Given the description of an element on the screen output the (x, y) to click on. 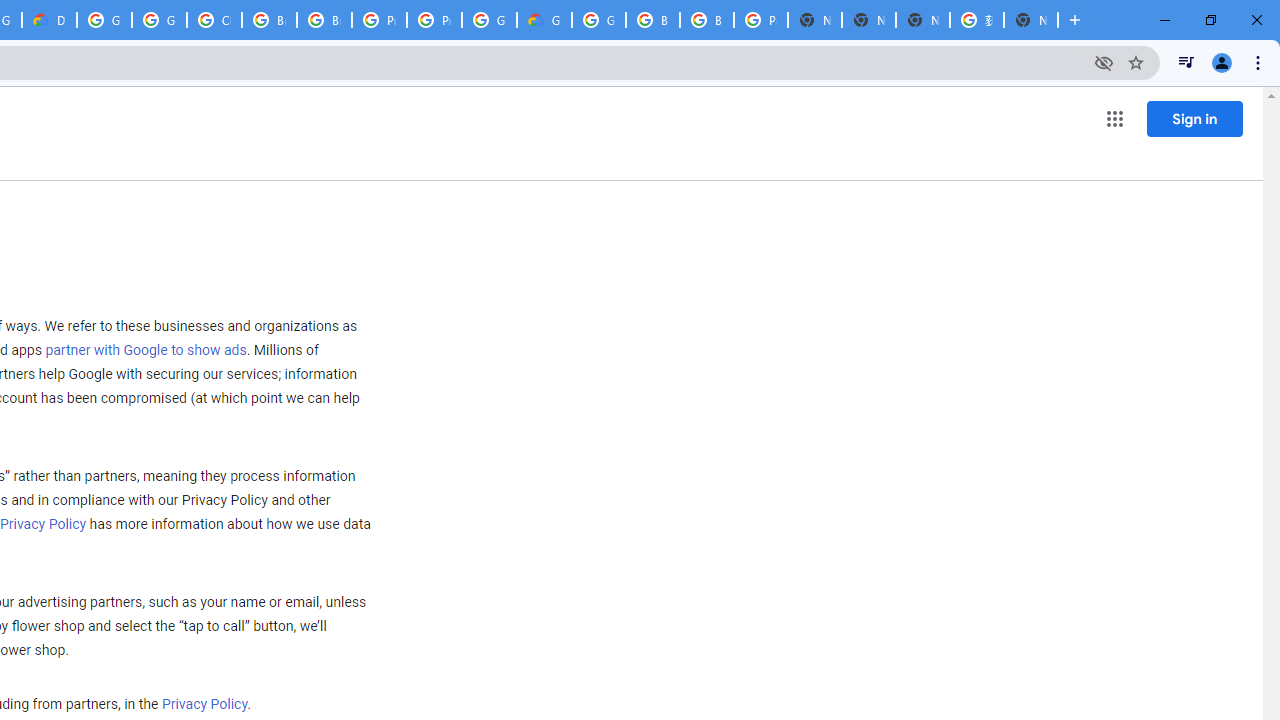
partner with Google to show ads (145, 351)
New Tab (1030, 20)
